Given the description of an element on the screen output the (x, y) to click on. 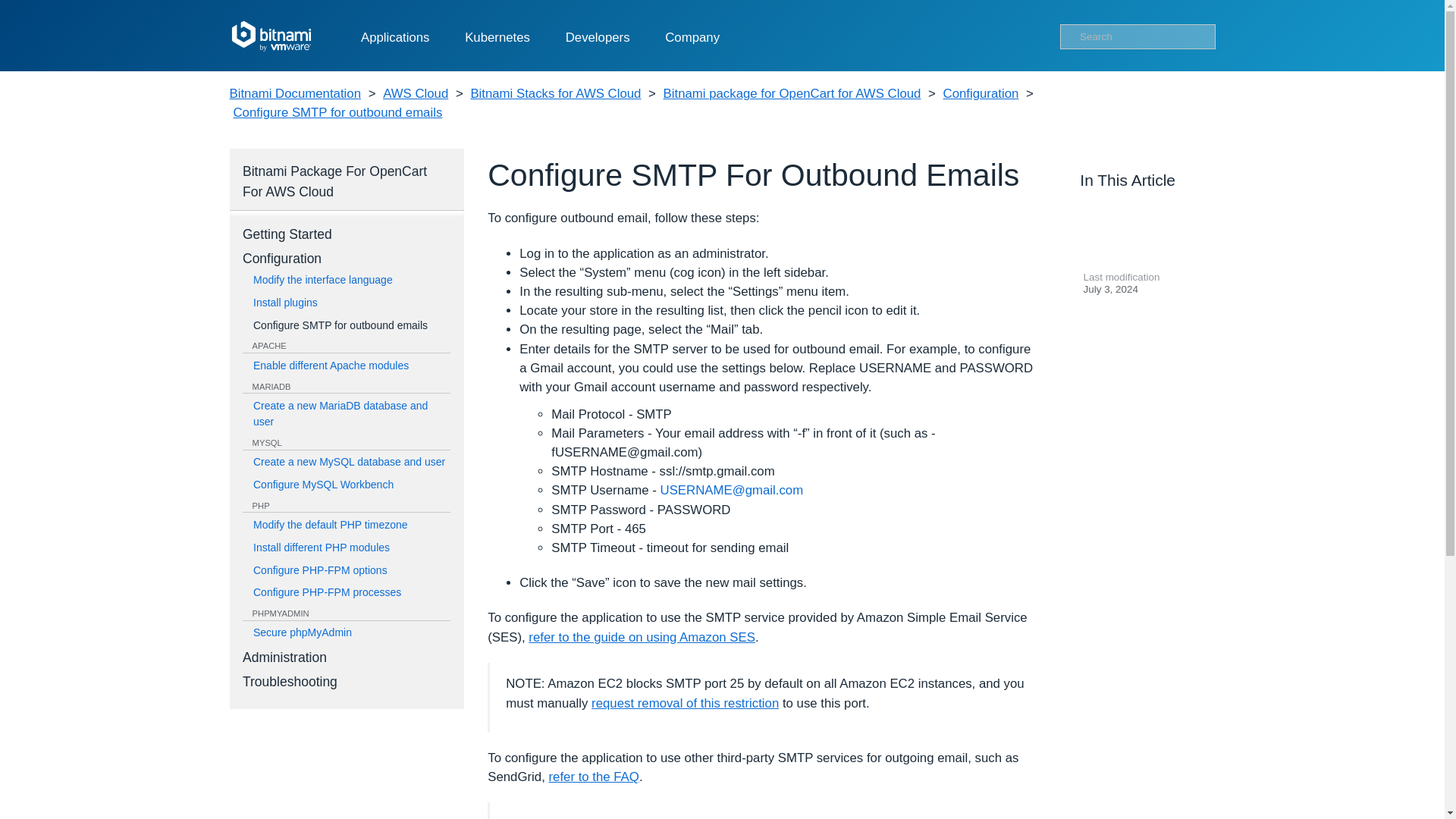
Bitnami Documentation (294, 93)
Developers (598, 37)
AWS Cloud (415, 93)
Bitnami Stacks for AWS Cloud (555, 93)
Bitnami package for OpenCart for AWS Cloud (792, 93)
Configuration (981, 93)
Configure SMTP for outbound emails (337, 112)
Applications (395, 37)
Company (692, 37)
Kubernetes (497, 37)
